Given the description of an element on the screen output the (x, y) to click on. 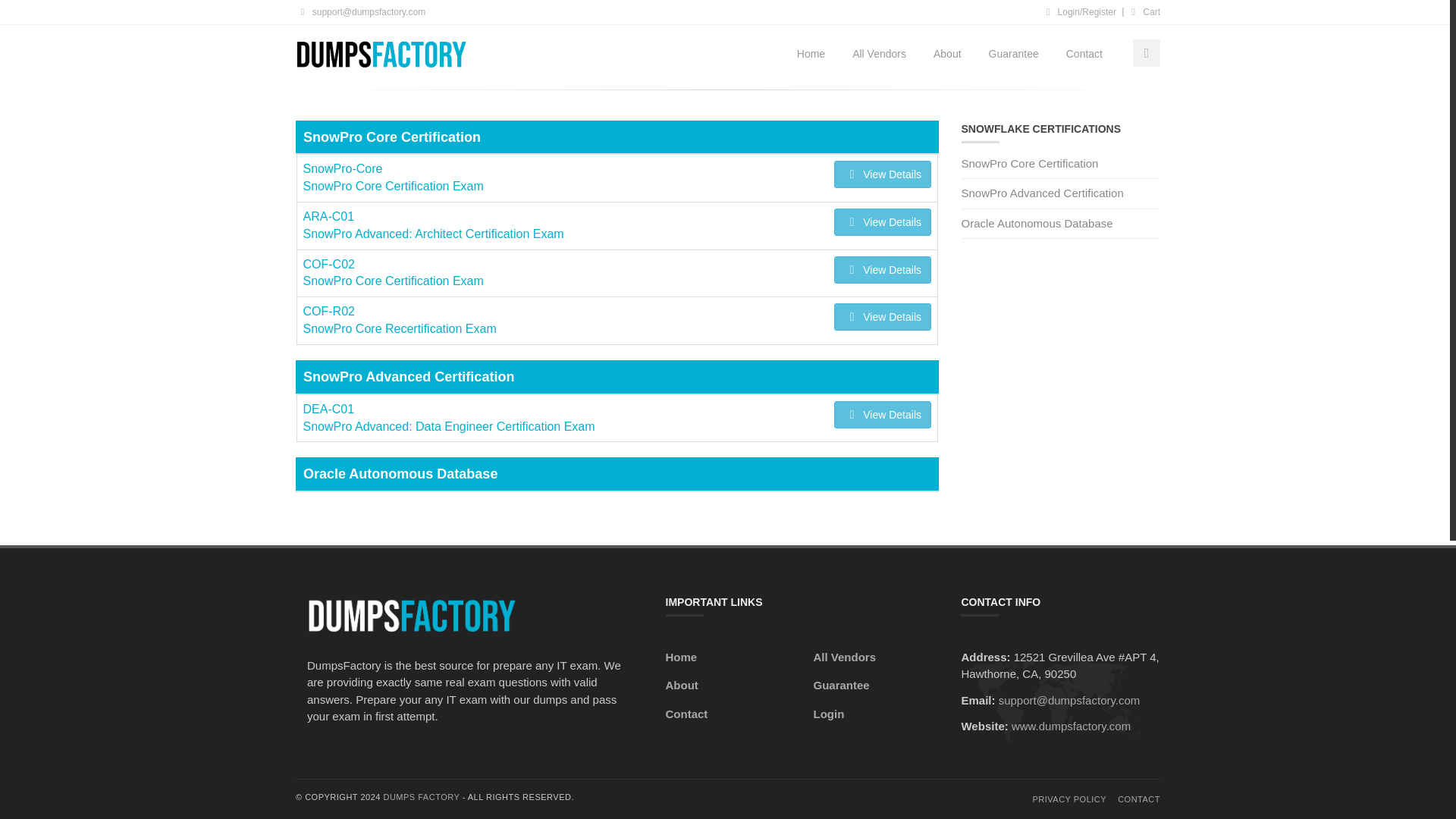
View Details (882, 174)
SnowPro Advanced Certification (1060, 194)
Oracle Autonomous Database (392, 177)
SnowPro Core Certification (1060, 224)
View Details (1060, 166)
View Details (882, 269)
View Details (433, 225)
